Given the description of an element on the screen output the (x, y) to click on. 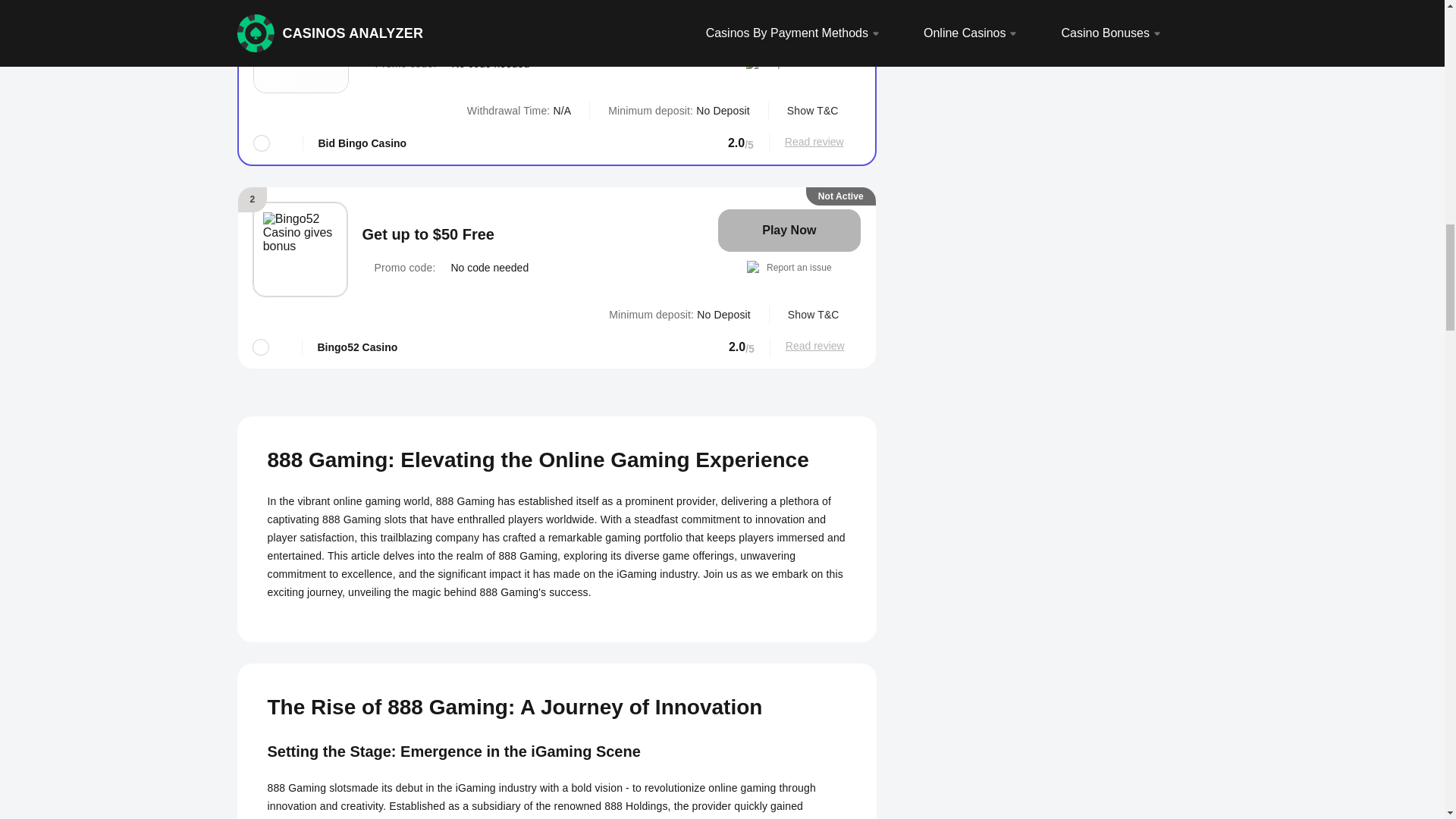
Bid Bingo Casino (300, 44)
Bingo52 Casino (300, 249)
